Given the description of an element on the screen output the (x, y) to click on. 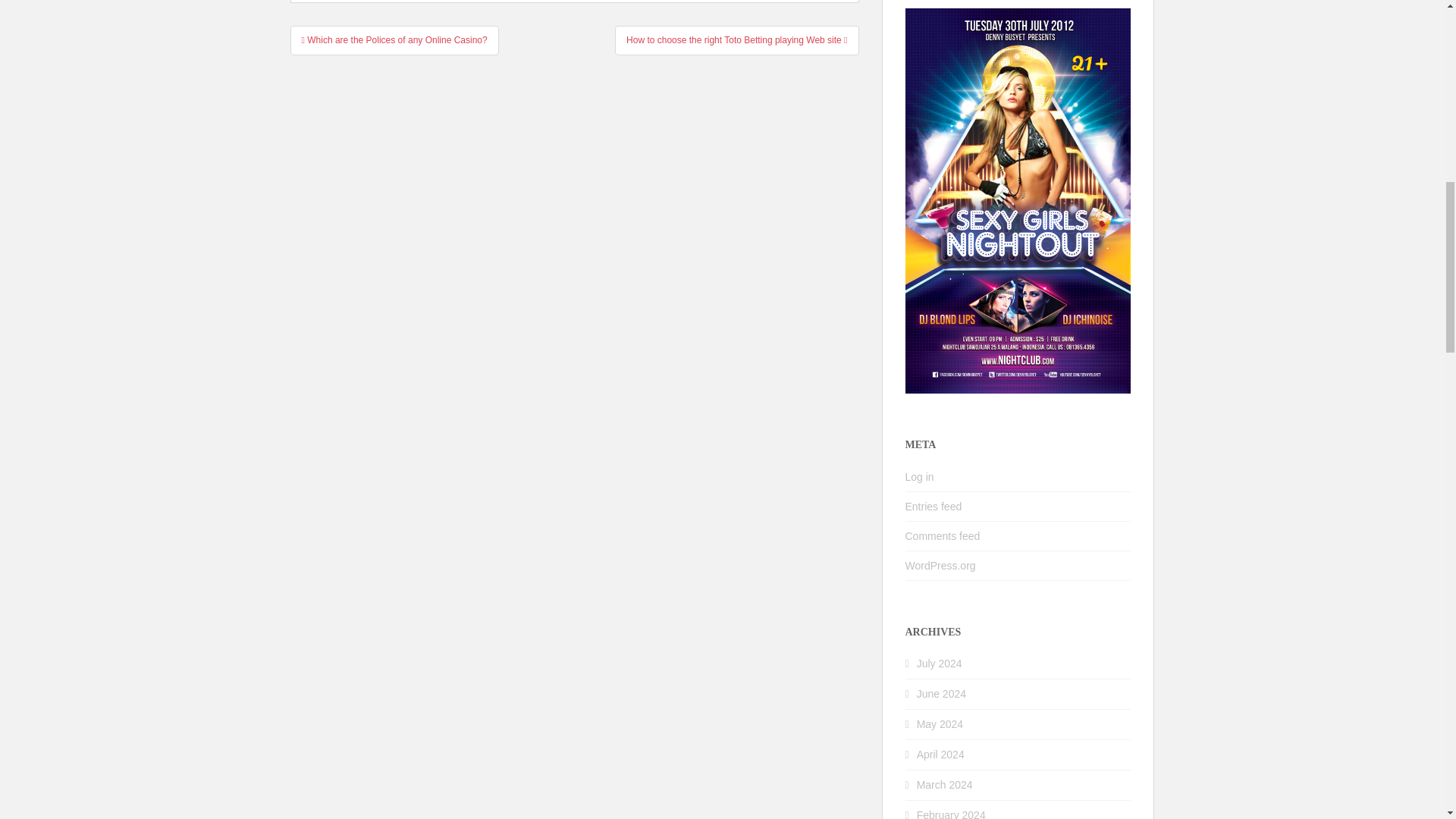
Entries feed (933, 506)
May 2024 (939, 724)
July 2024 (939, 663)
Comments feed (942, 535)
Log in (919, 476)
June 2024 (941, 693)
April 2024 (940, 754)
February 2024 (951, 814)
How to choose the right Toto Betting playing Web site (736, 39)
March 2024 (944, 784)
WordPress.org (940, 565)
Which are the Polices of any Online Casino? (393, 39)
